Given the description of an element on the screen output the (x, y) to click on. 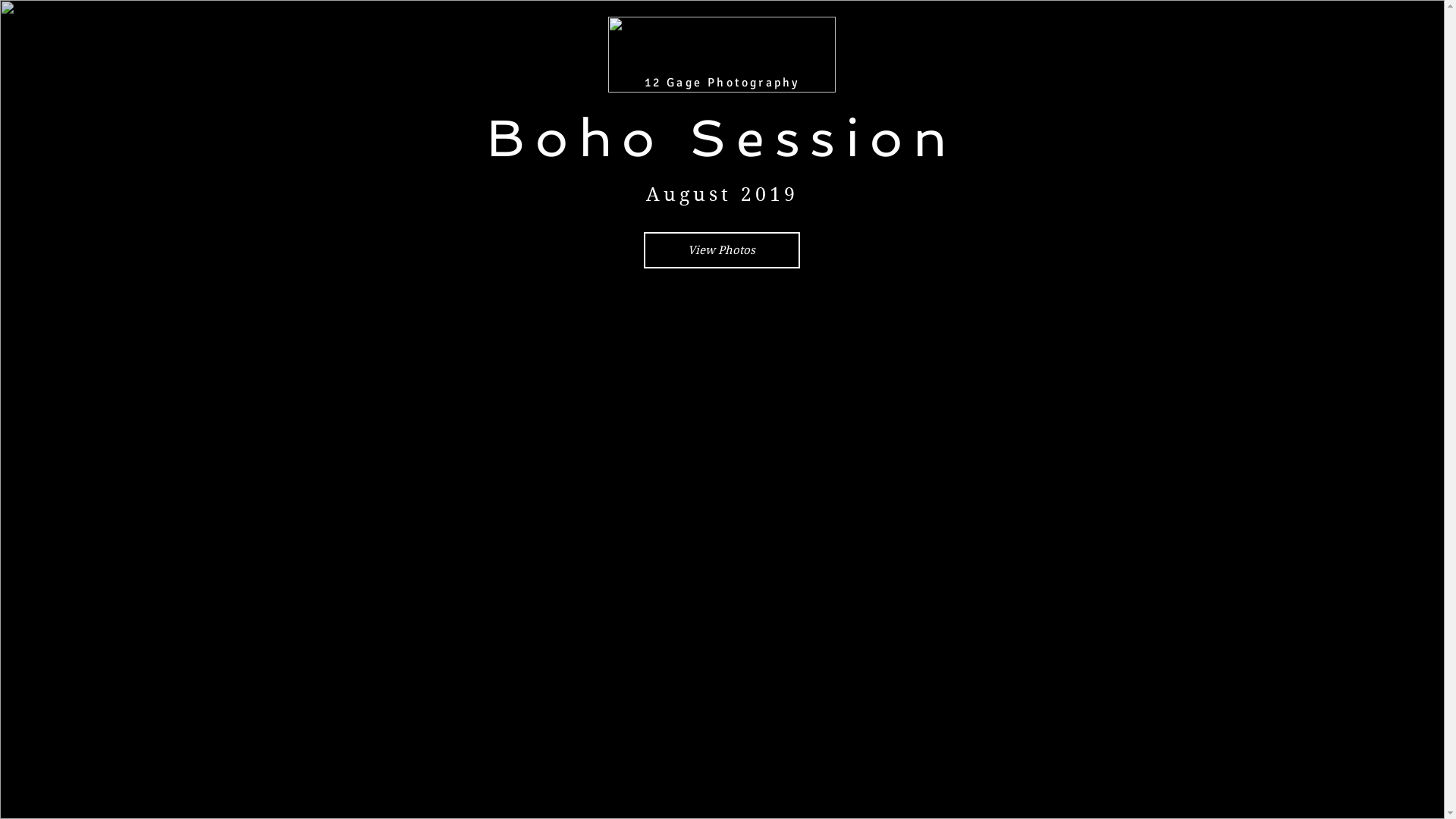
12 Gage Photography Element type: text (722, 82)
View Photos Element type: text (721, 250)
